Given the description of an element on the screen output the (x, y) to click on. 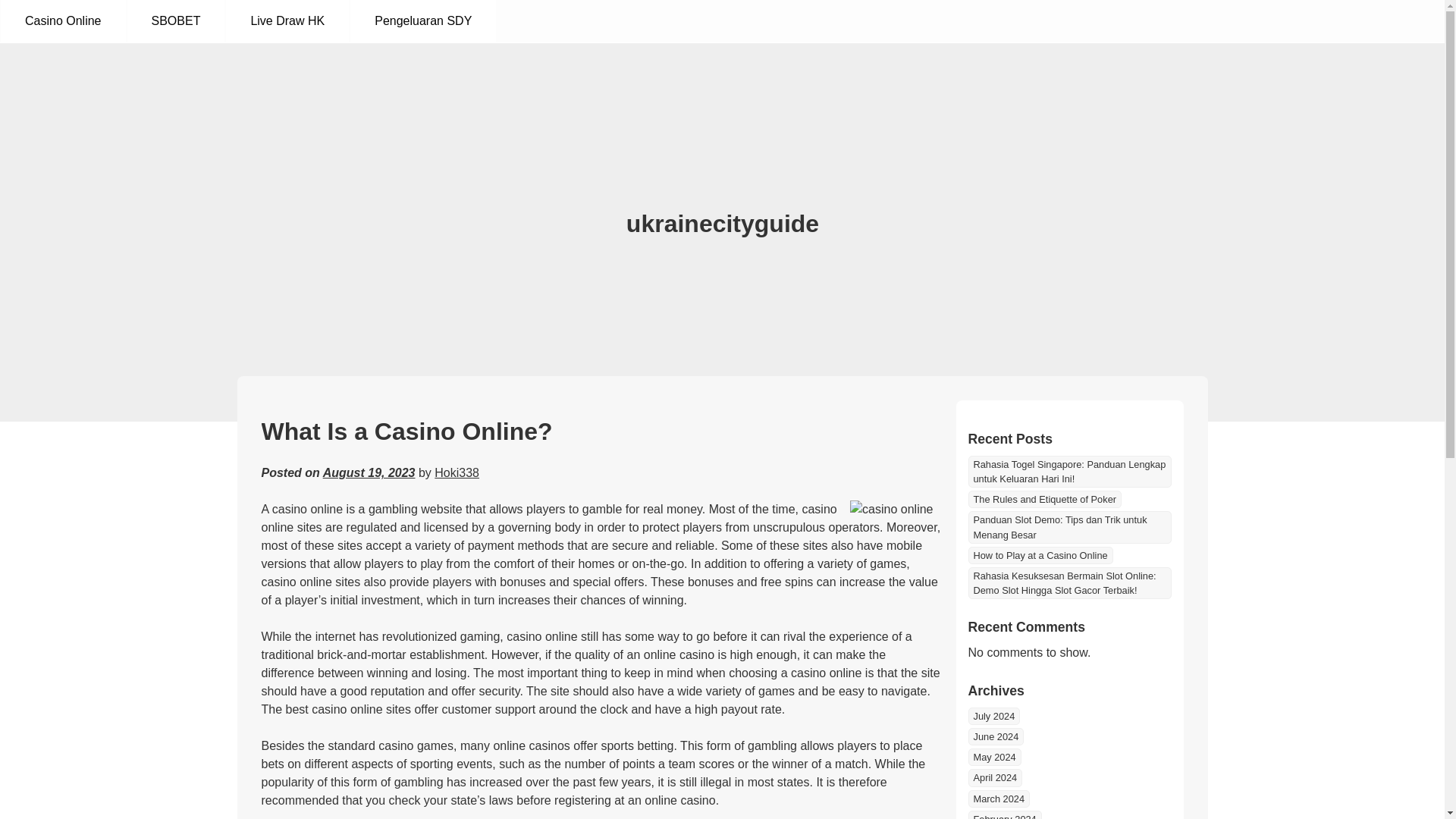
Panduan Slot Demo: Tips dan Trik untuk Menang Besar (1069, 526)
March 2024 (998, 798)
February 2024 (1004, 814)
August 19, 2023 (368, 472)
Live Draw HK (287, 21)
May 2024 (994, 756)
July 2024 (994, 715)
Hoki338 (456, 472)
Casino Online (63, 21)
How to Play at a Casino Online (1040, 555)
SBOBET (176, 21)
April 2024 (995, 777)
The Rules and Etiquette of Poker (1044, 498)
